Given the description of an element on the screen output the (x, y) to click on. 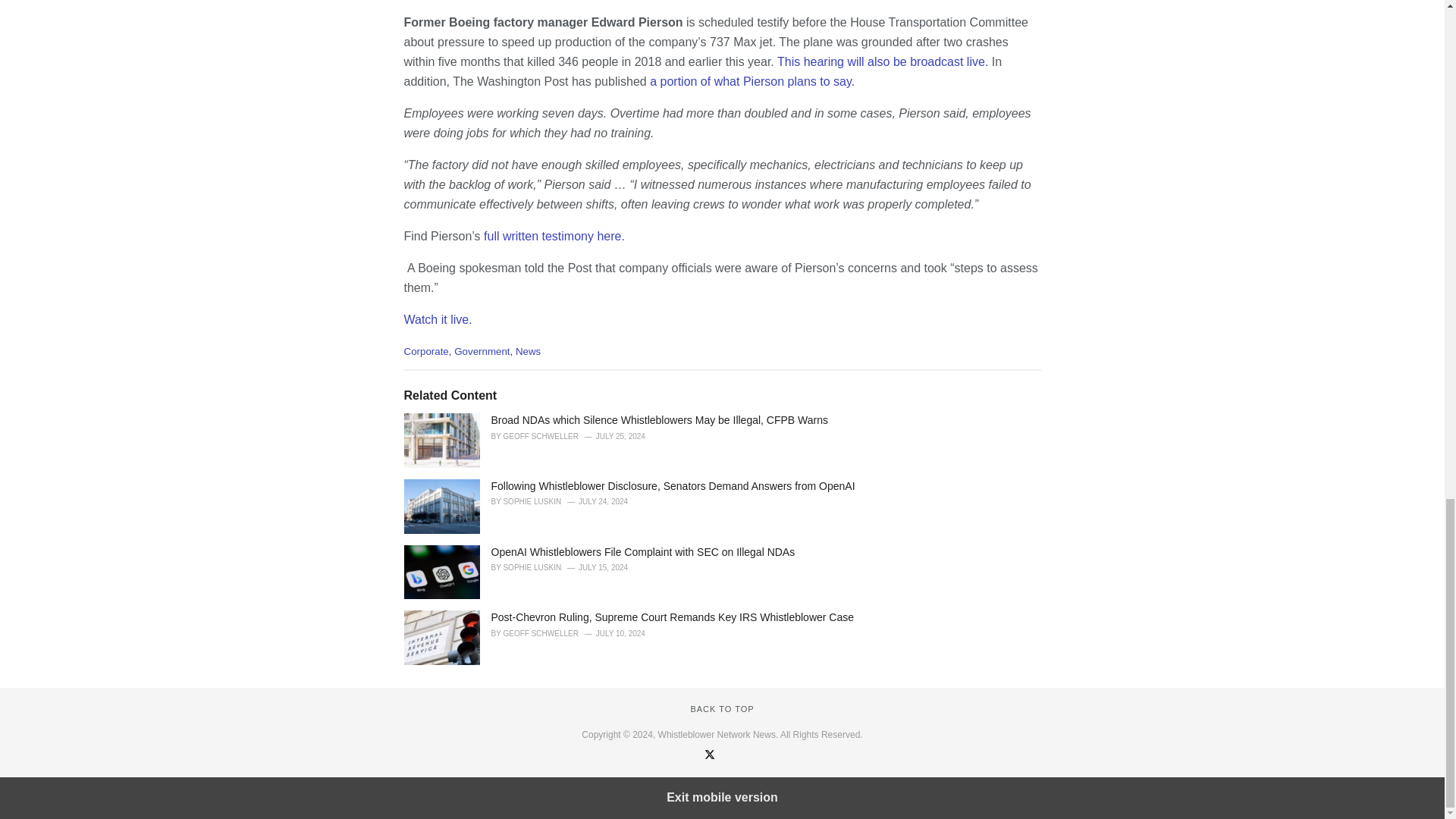
News (527, 351)
BACK TO TOP (722, 708)
Government (481, 351)
full written testimony here.  (555, 236)
Watch it live. (437, 318)
his hearing will also be broadcast live. (886, 61)
a portion of what Pierson plans to say. (751, 81)
